Given the description of an element on the screen output the (x, y) to click on. 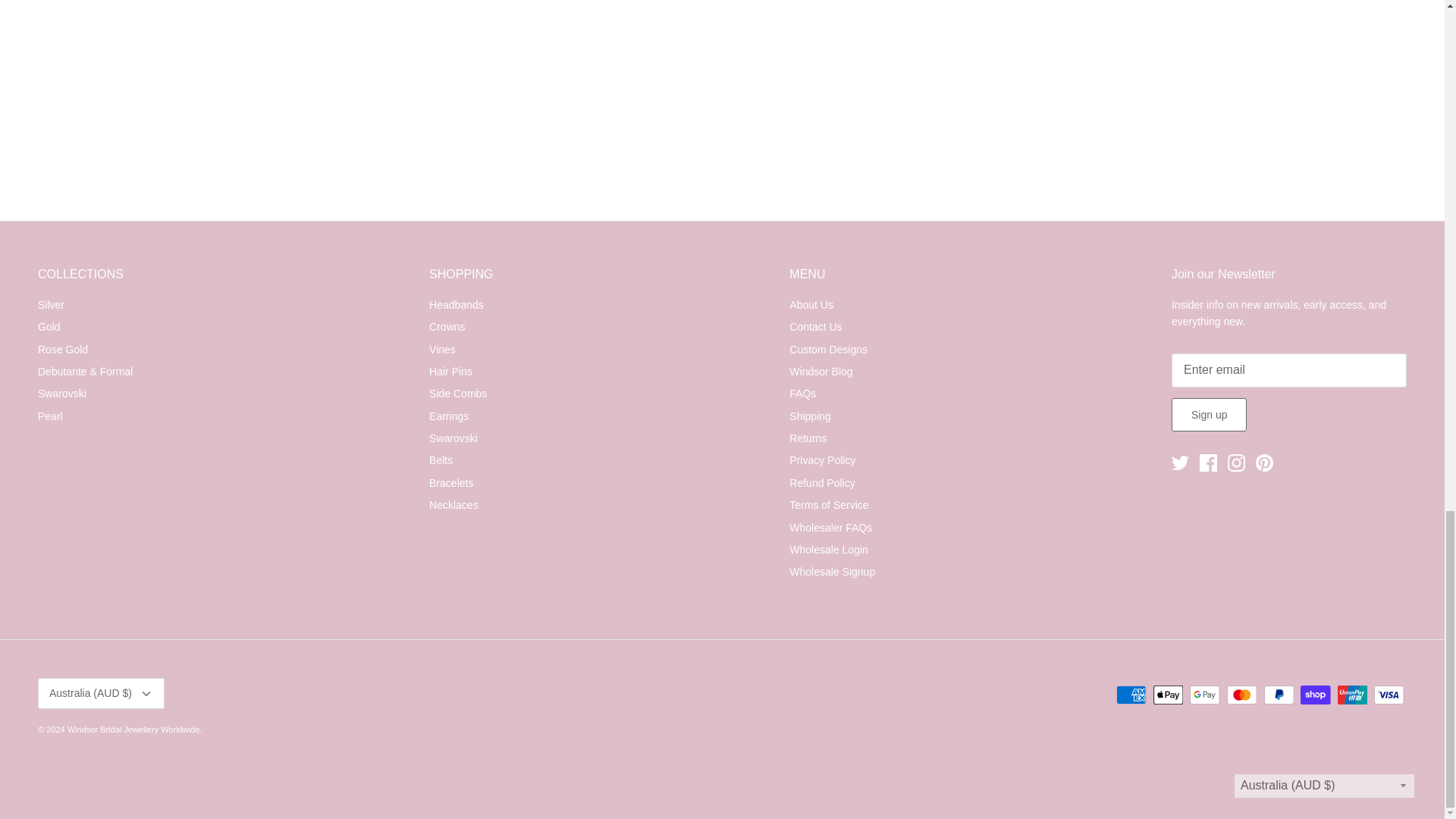
Apple Pay (1168, 694)
Facebook (1208, 462)
American Express (1130, 694)
Union Pay (1352, 694)
Twitter (1180, 462)
Shop Pay (1315, 694)
PayPal (1277, 694)
Google Pay (1204, 694)
Mastercard (1241, 694)
Pinterest (1263, 462)
Instagram (1235, 462)
